Given the description of an element on the screen output the (x, y) to click on. 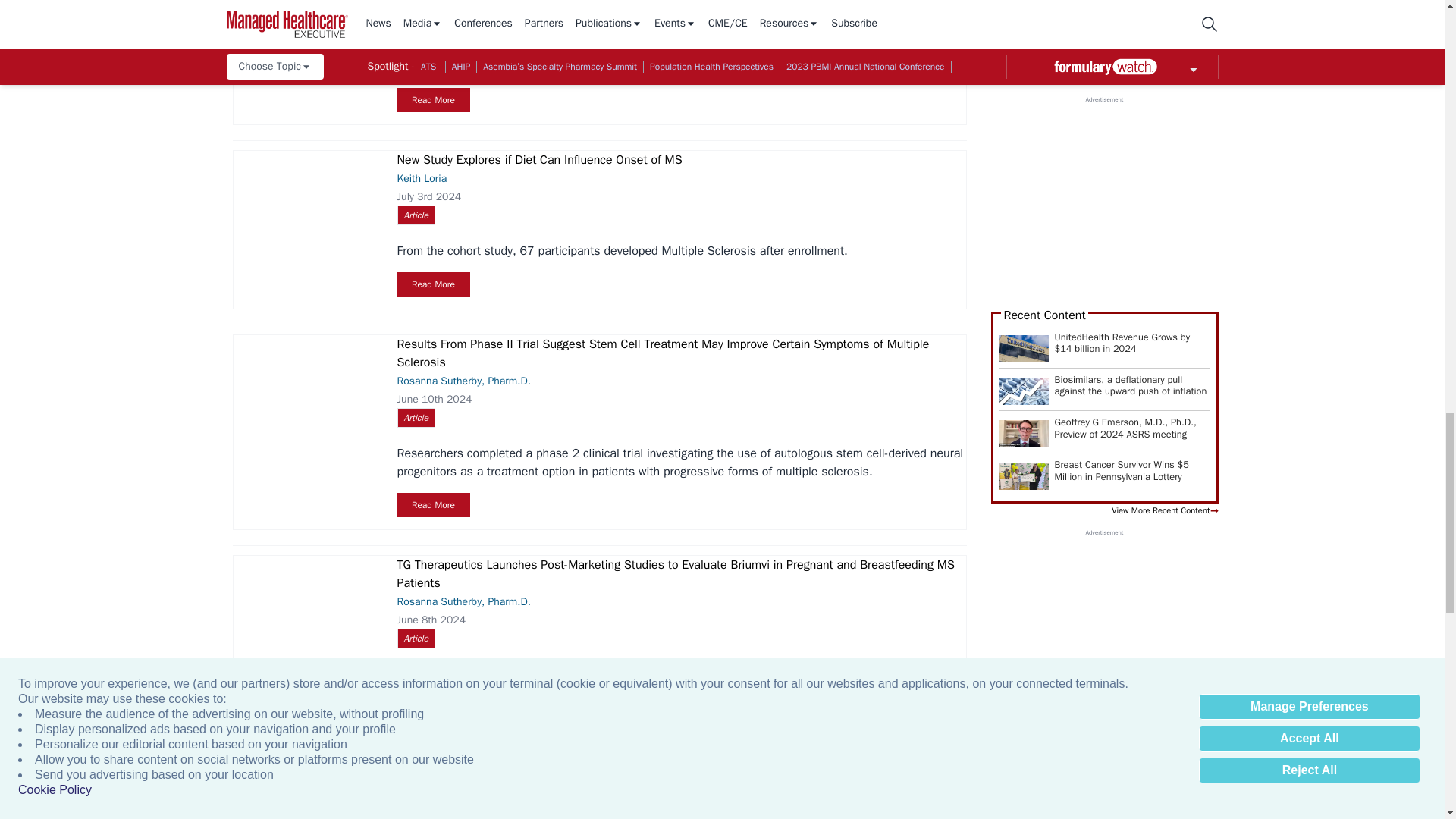
New Study Explores if Diet Can Influence Onset of MS (305, 205)
